Given the description of an element on the screen output the (x, y) to click on. 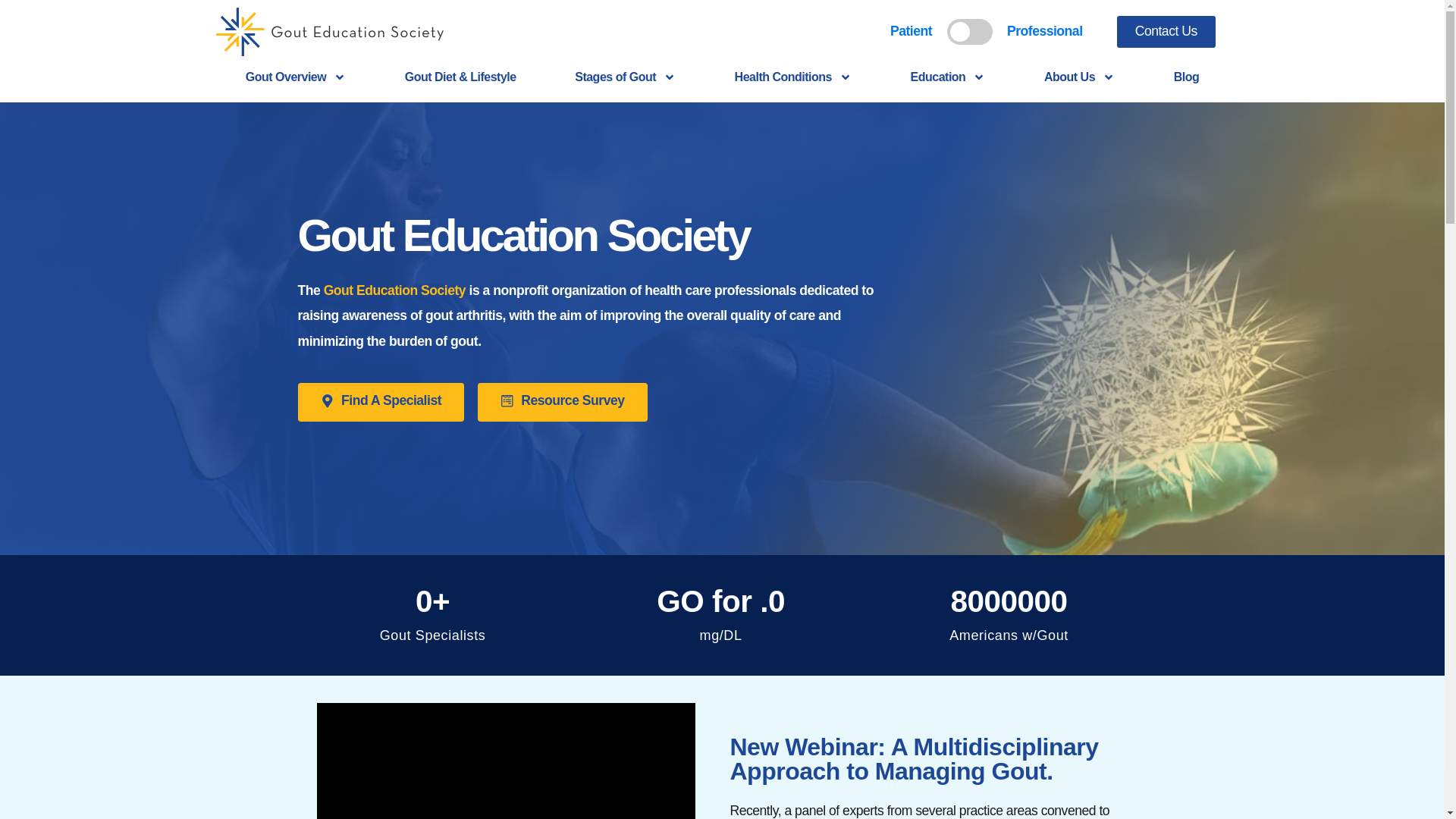
Gout Overview (295, 77)
Health Conditions (792, 77)
About Us (1079, 77)
Stages of Gout (624, 77)
Education (947, 77)
